Given the description of an element on the screen output the (x, y) to click on. 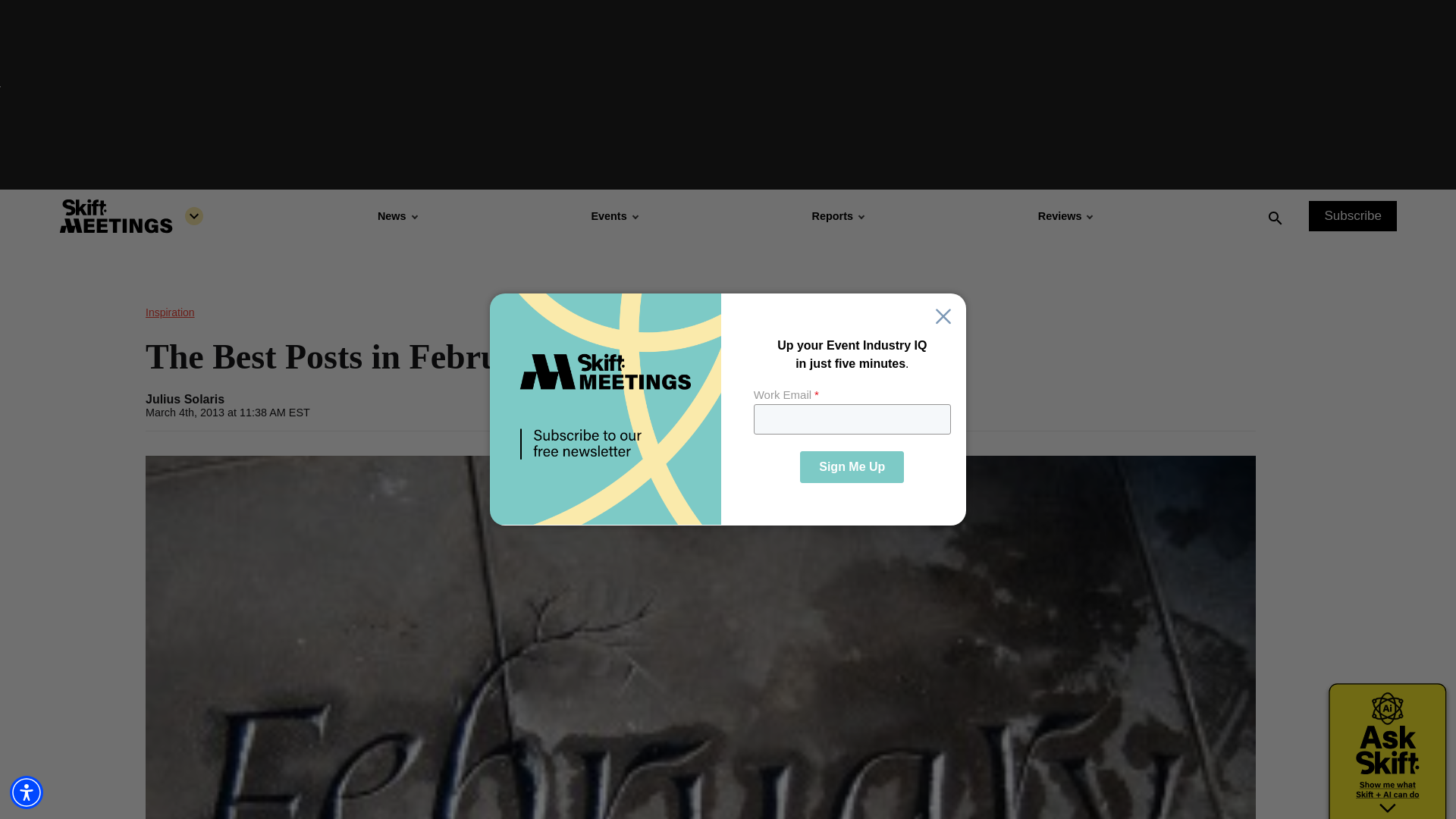
Reviews (1065, 215)
Reports (837, 215)
Subscribe (1352, 215)
Accessibility Menu (26, 792)
Popup CTA (727, 409)
